Given the description of an element on the screen output the (x, y) to click on. 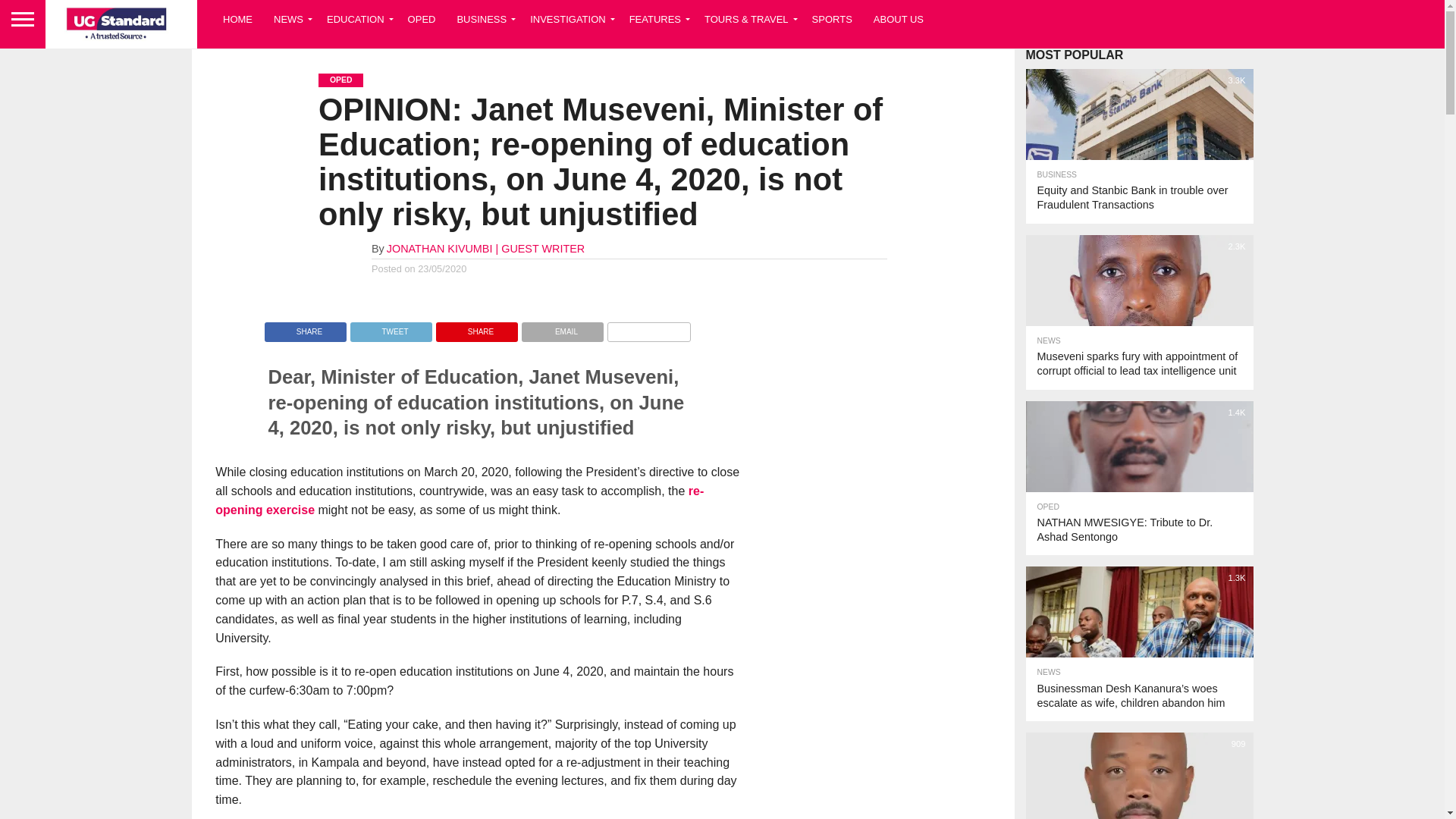
Share on Facebook (305, 327)
Tweet This Post (390, 327)
Pin This Post (476, 327)
